Given the description of an element on the screen output the (x, y) to click on. 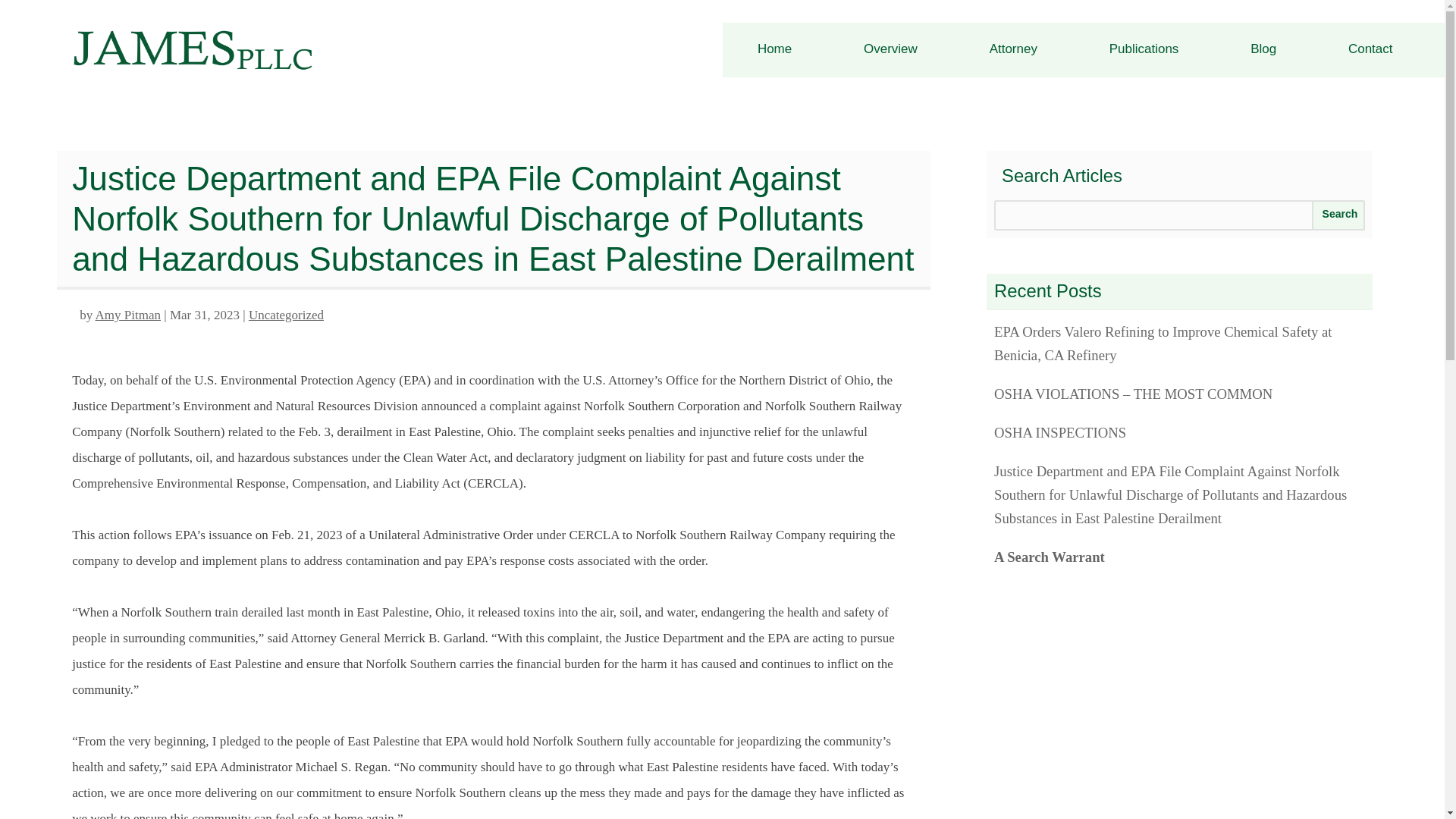
Search (1338, 214)
Attorney (1013, 49)
Uncategorized (285, 314)
Contact (1370, 49)
A Search Warrant (1180, 557)
Overview (890, 49)
Amy Pitman (128, 314)
Publications (1144, 49)
OSHA INSPECTIONS (1180, 432)
Blog (1263, 49)
Search (1338, 214)
Home (774, 49)
Posts by Amy Pitman (128, 314)
